Given the description of an element on the screen output the (x, y) to click on. 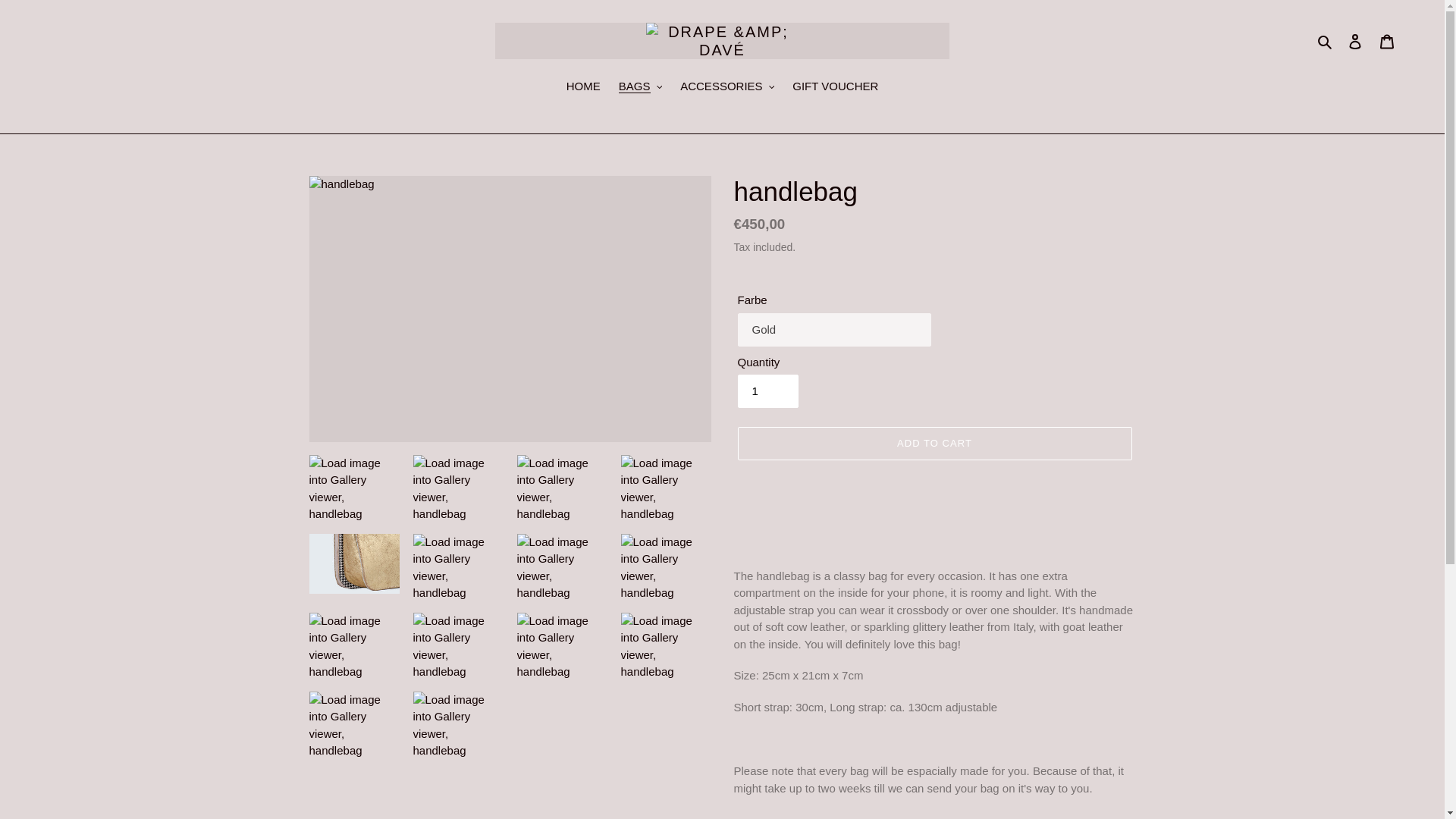
1 (766, 390)
Search (1326, 40)
Log in (1355, 41)
HOME (583, 87)
BAGS (640, 87)
Cart (1387, 41)
